Given the description of an element on the screen output the (x, y) to click on. 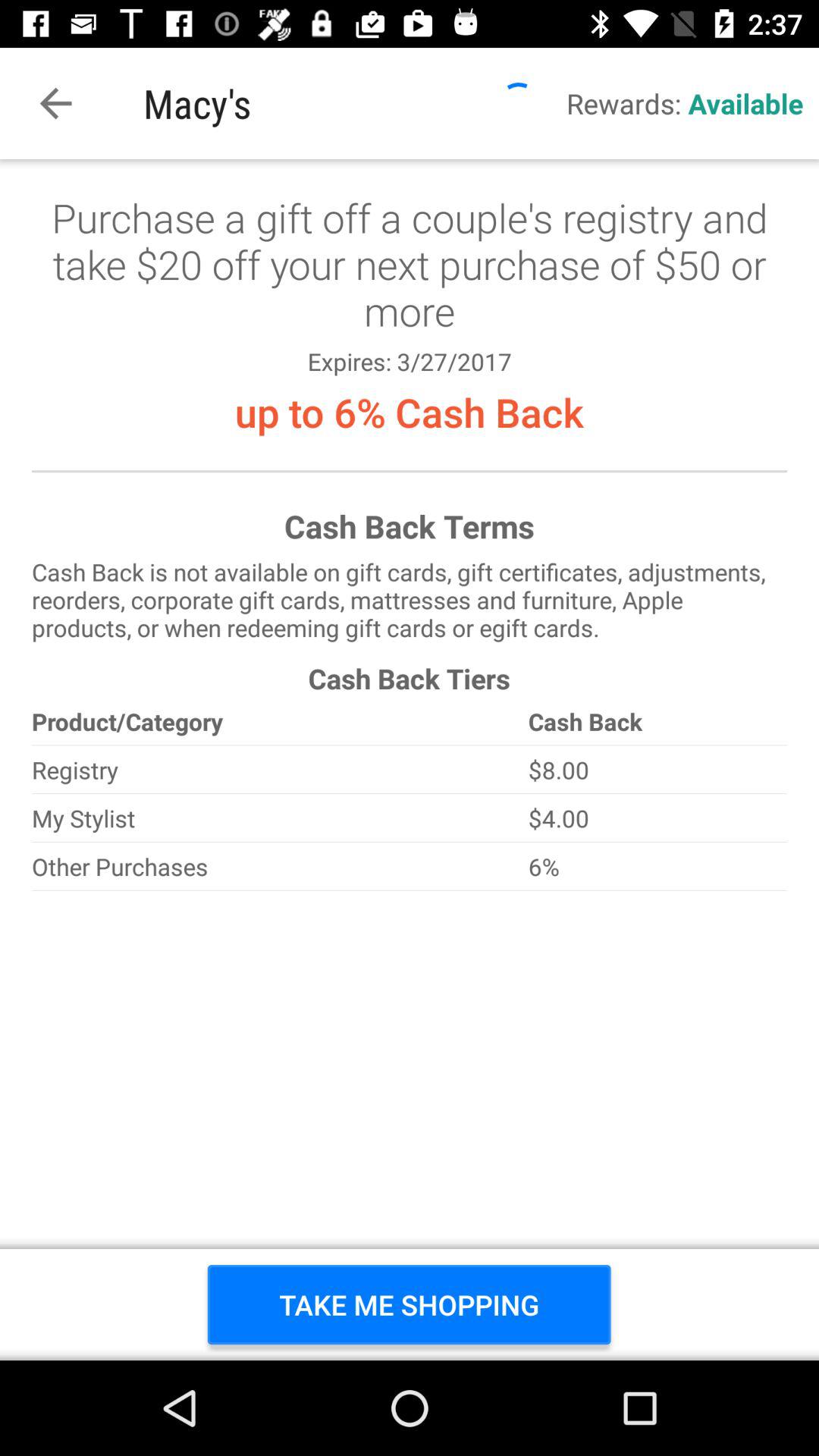
choose the take me shopping icon (408, 1304)
